Given the description of an element on the screen output the (x, y) to click on. 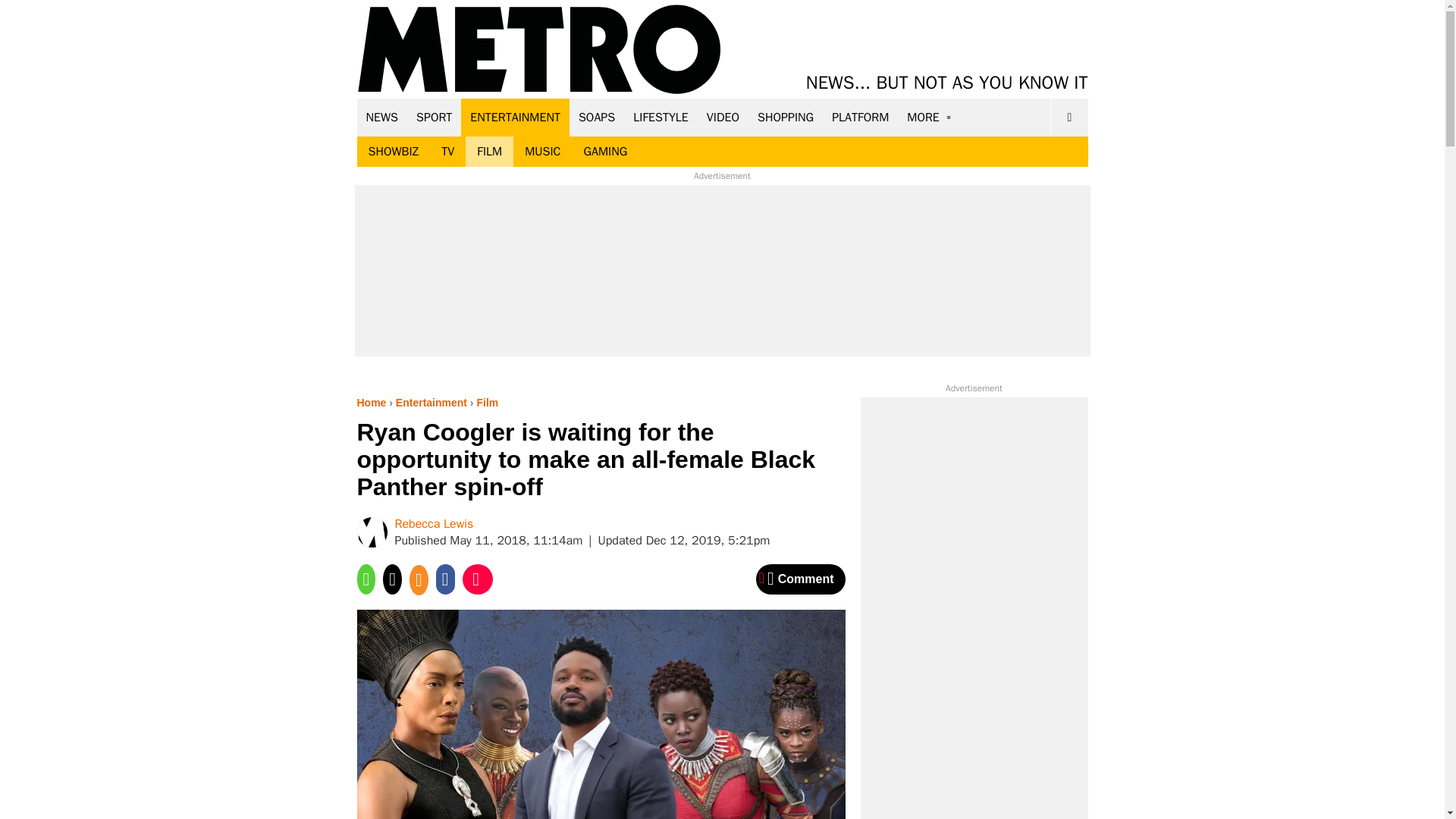
TV (447, 151)
MUSIC (542, 151)
ENTERTAINMENT (515, 117)
NEWS (381, 117)
SHOWBIZ (392, 151)
GAMING (605, 151)
SOAPS (596, 117)
FILM (489, 151)
SPORT (434, 117)
Metro (539, 50)
LIFESTYLE (660, 117)
